Given the description of an element on the screen output the (x, y) to click on. 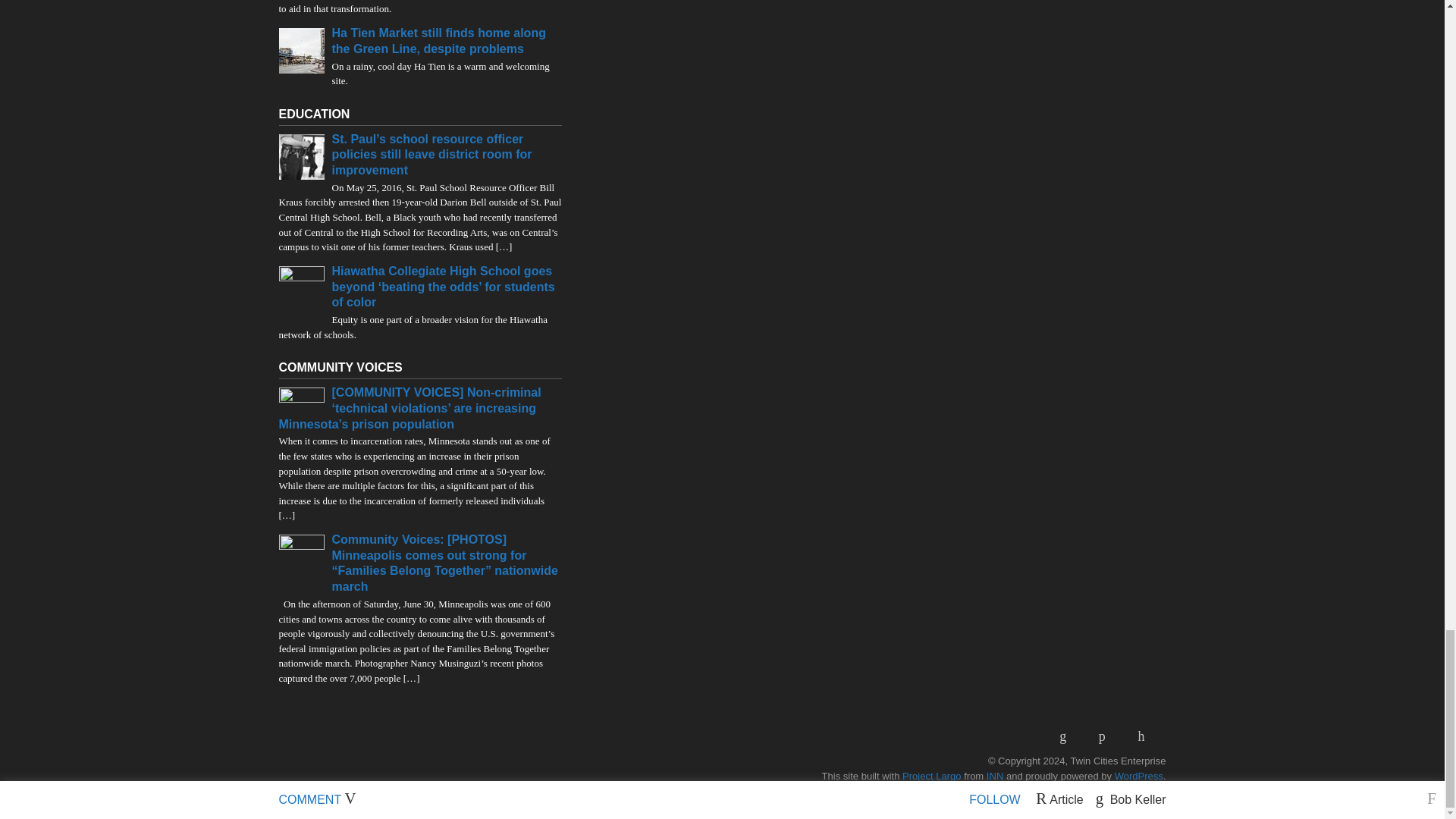
Link to Facebook Profile (1106, 735)
Link to Twitter Page (1146, 735)
Link to RSS Feed (1067, 735)
